Given the description of an element on the screen output the (x, y) to click on. 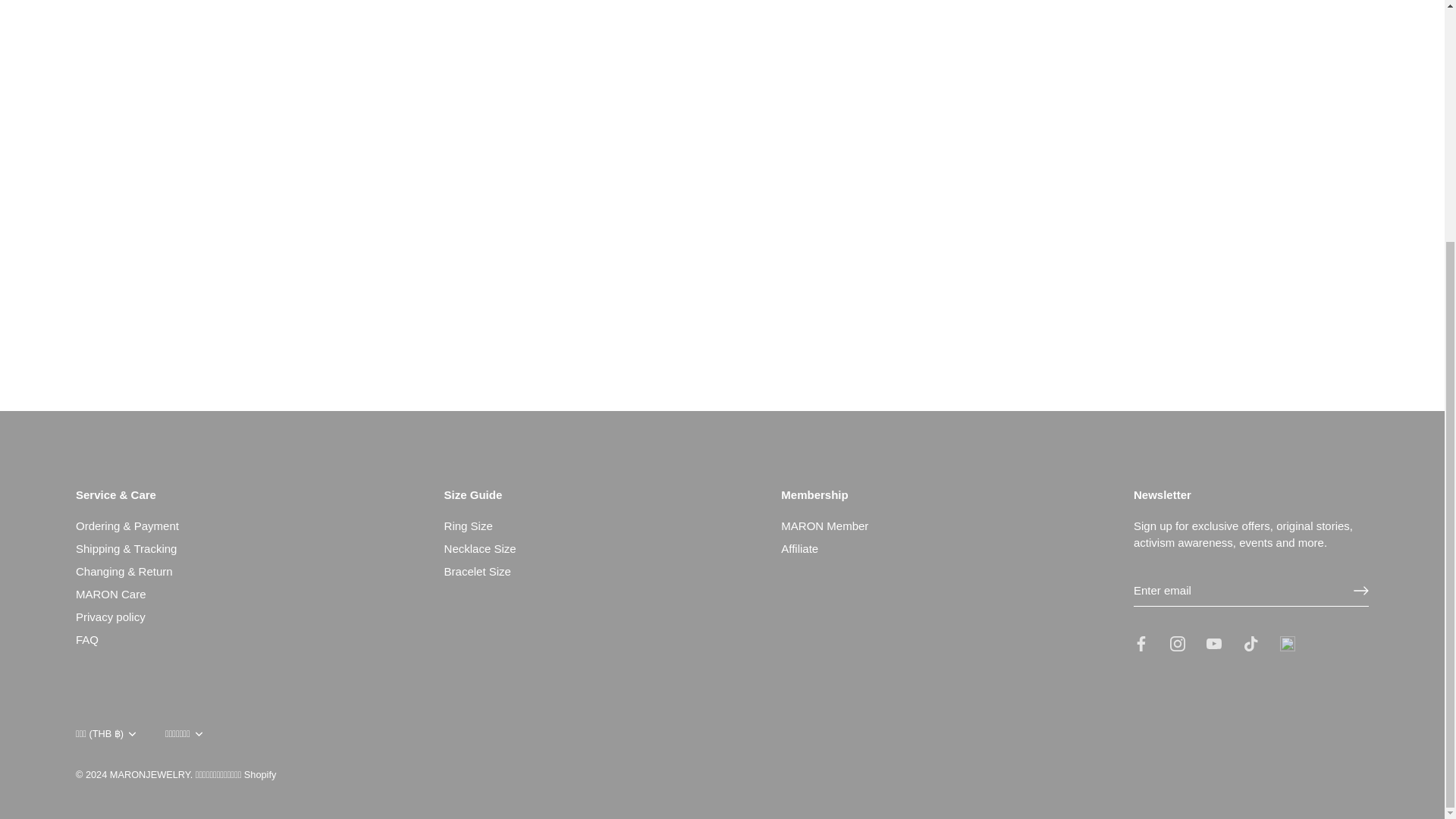
RIGHT ARROW LONG (1361, 590)
Instagram (1177, 643)
Youtube (1214, 643)
